Given the description of an element on the screen output the (x, y) to click on. 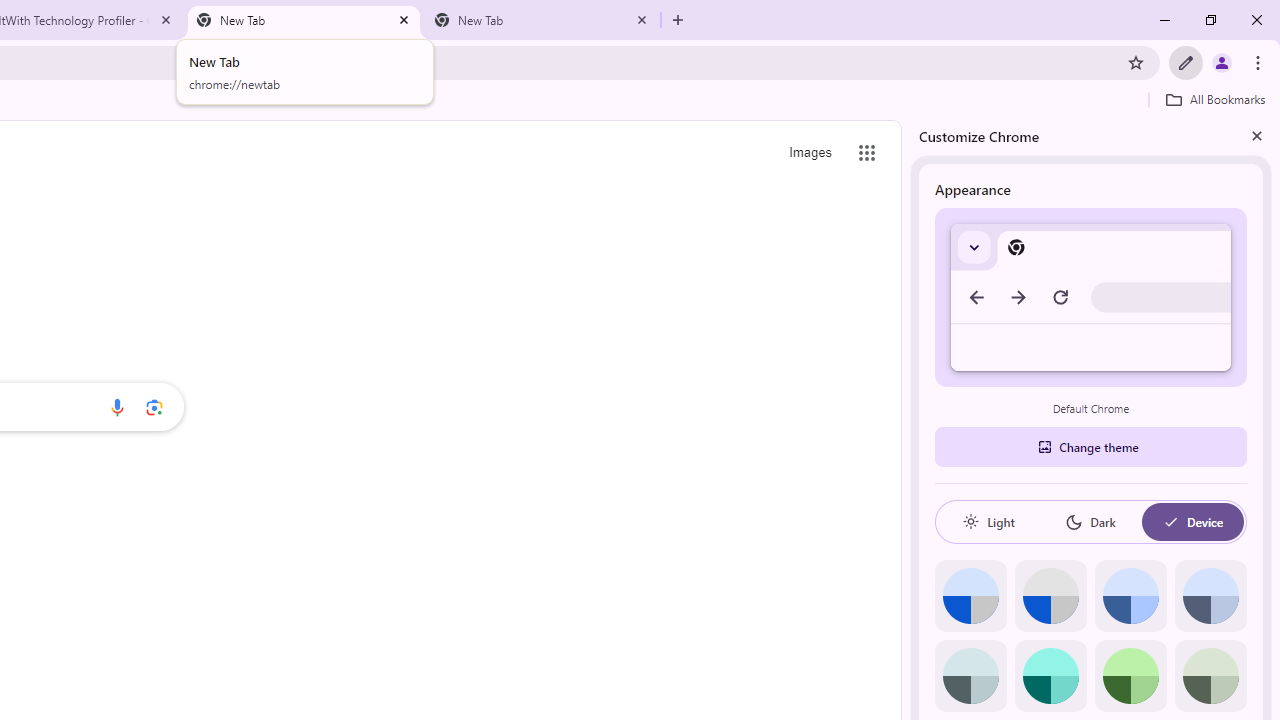
Change theme (1090, 446)
Light (988, 521)
Dark (1090, 521)
Cool grey (1210, 596)
Green (1130, 676)
Grey (970, 676)
Customize Chrome (1185, 62)
Blue (1130, 596)
